Given the description of an element on the screen output the (x, y) to click on. 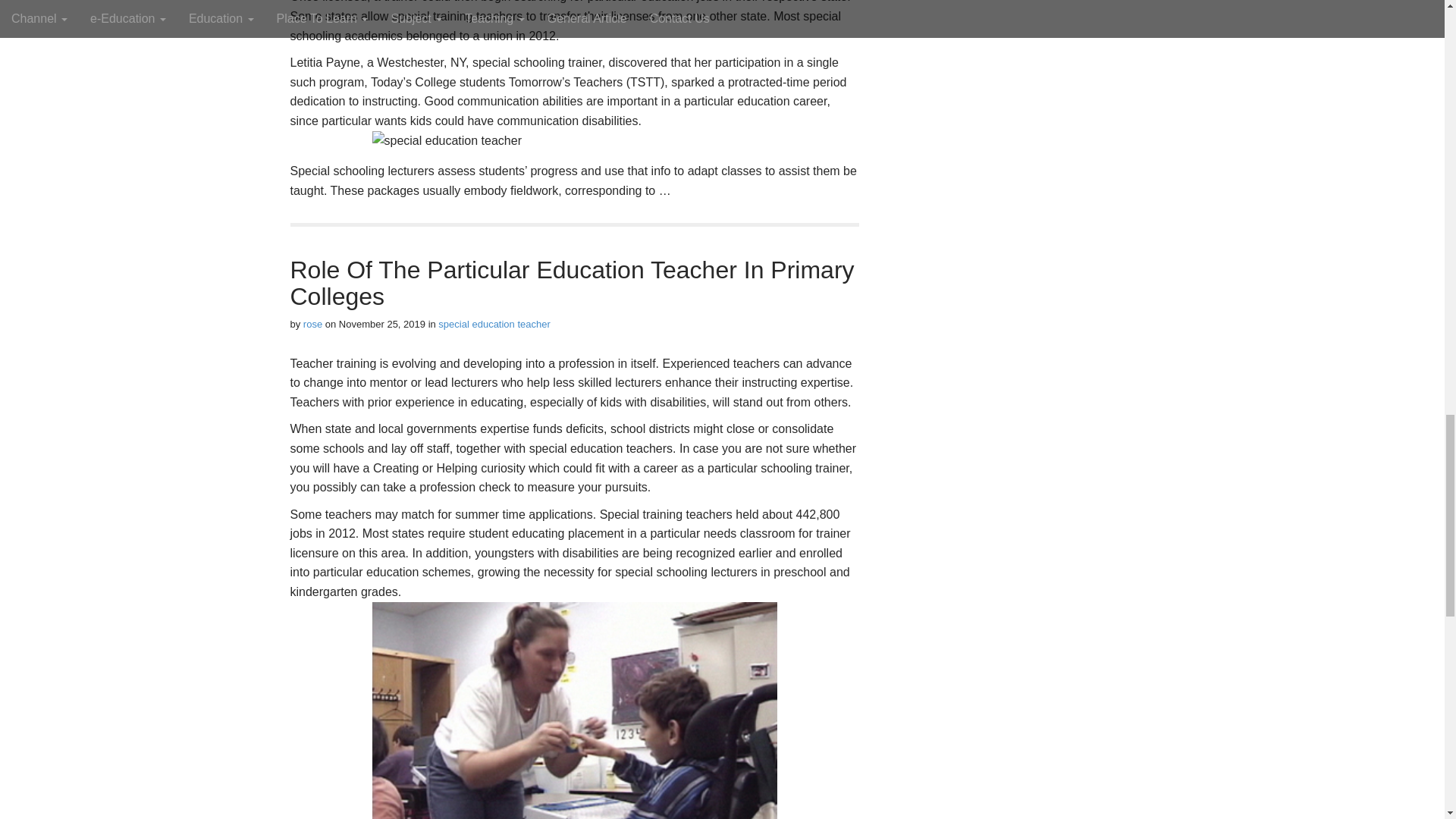
Posts by rose (311, 324)
